Given the description of an element on the screen output the (x, y) to click on. 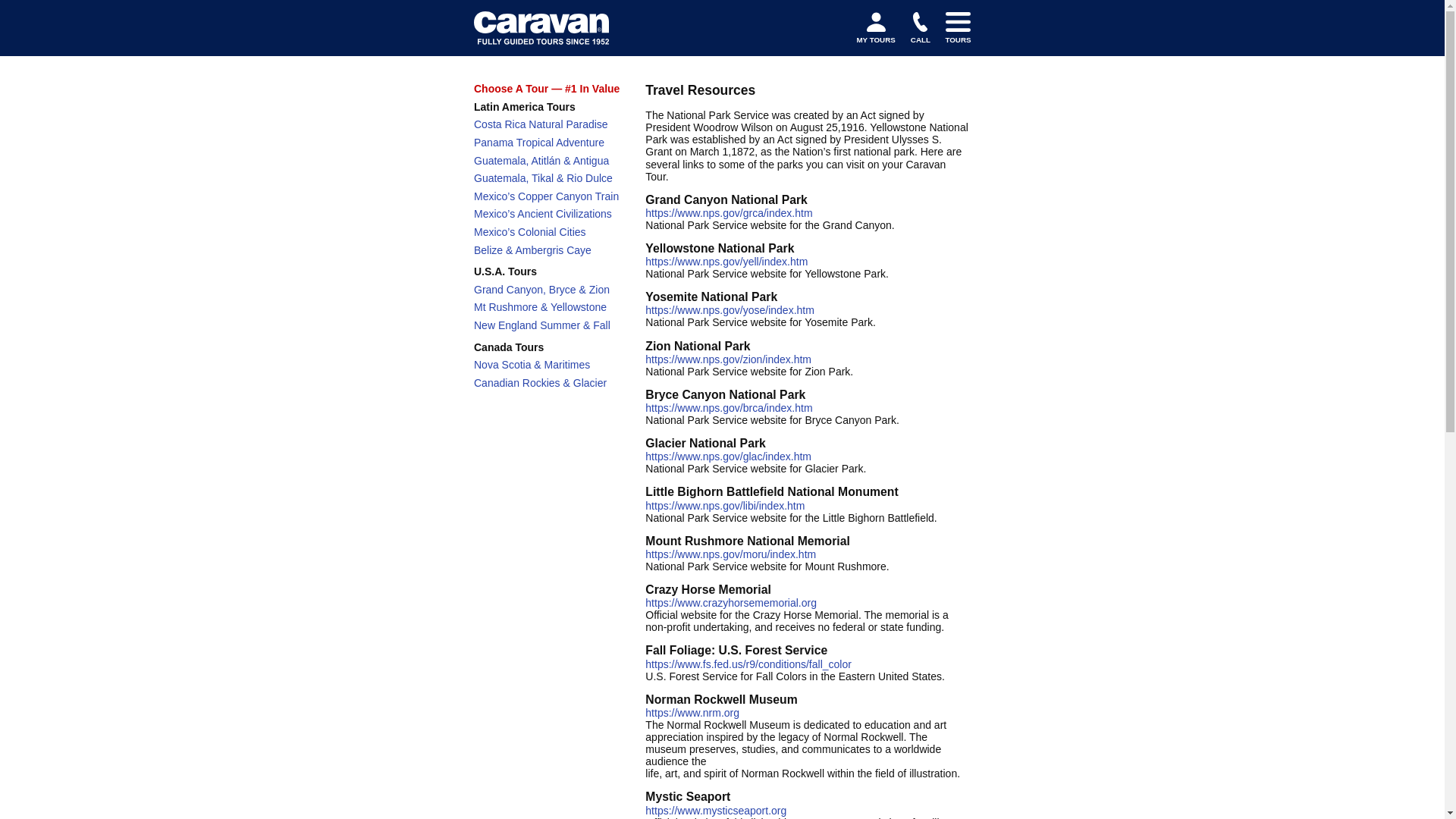
Panama Tropical Adventure (539, 142)
MY TOURS (875, 28)
Costa Rica Natural Paradise (541, 123)
